Given the description of an element on the screen output the (x, y) to click on. 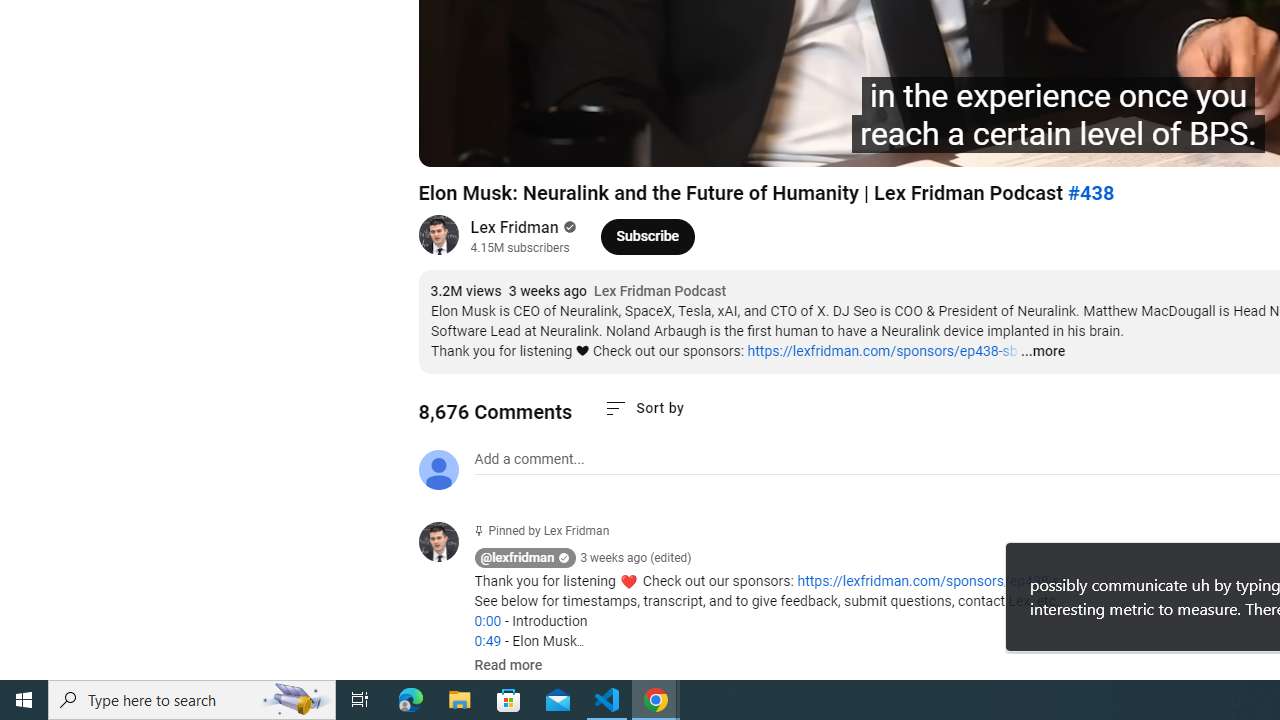
Play (k) (453, 142)
Mute (m) (548, 142)
Telepathy (706, 142)
@lexfridman (517, 557)
Verified (567, 227)
#438 (1090, 193)
https://lexfridman.com/sponsors/ep438-sa (932, 581)
Lex Fridman Podcast (660, 291)
Lex Fridman (514, 227)
0:49 (487, 641)
Sort comments (644, 408)
Next (SHIFT+n) (500, 142)
3 weeks ago (edited) (635, 557)
0:00 (487, 621)
@lexfridman (446, 543)
